Given the description of an element on the screen output the (x, y) to click on. 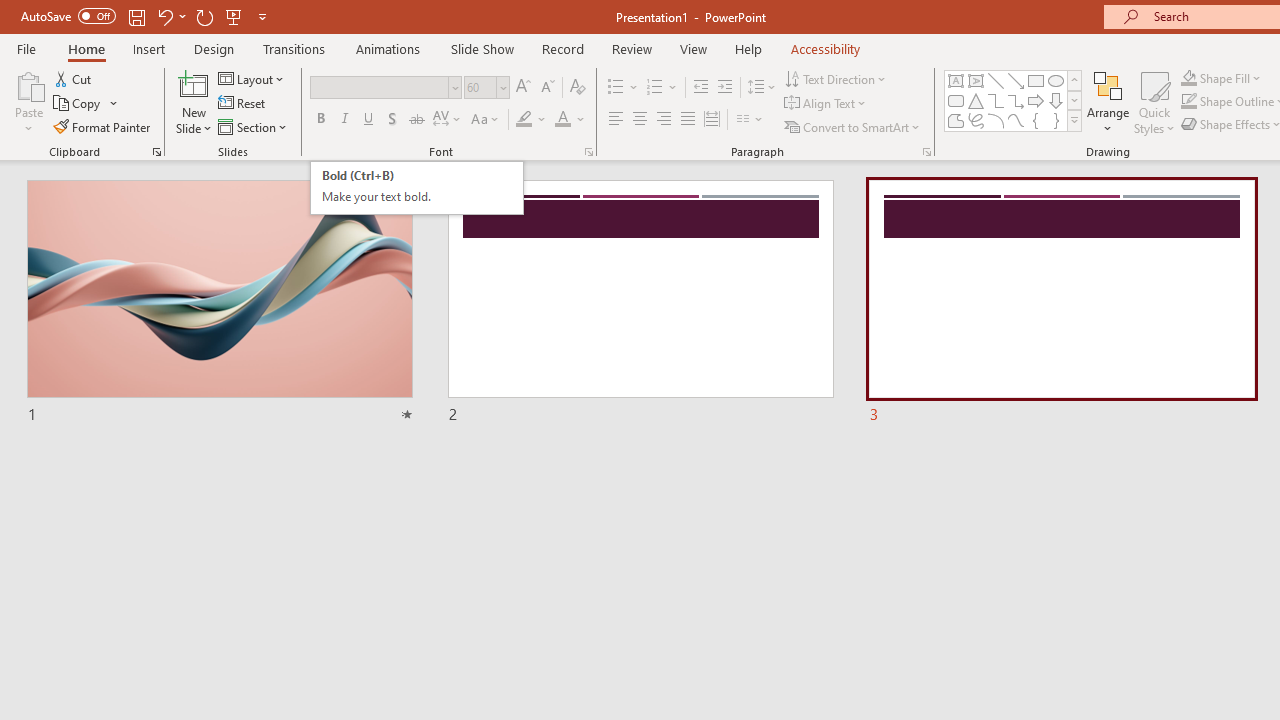
Layout (252, 78)
Format Painter (103, 126)
Quick Styles (1154, 102)
Change Case (486, 119)
Slide Show (481, 48)
Arrow: Down (1055, 100)
More Options (1232, 78)
Increase Font Size (522, 87)
Align Right (663, 119)
Decrease Indent (700, 87)
Font (385, 87)
Underline (369, 119)
Vertical Text Box (975, 80)
Text Highlight Color (531, 119)
Help (748, 48)
